Given the description of an element on the screen output the (x, y) to click on. 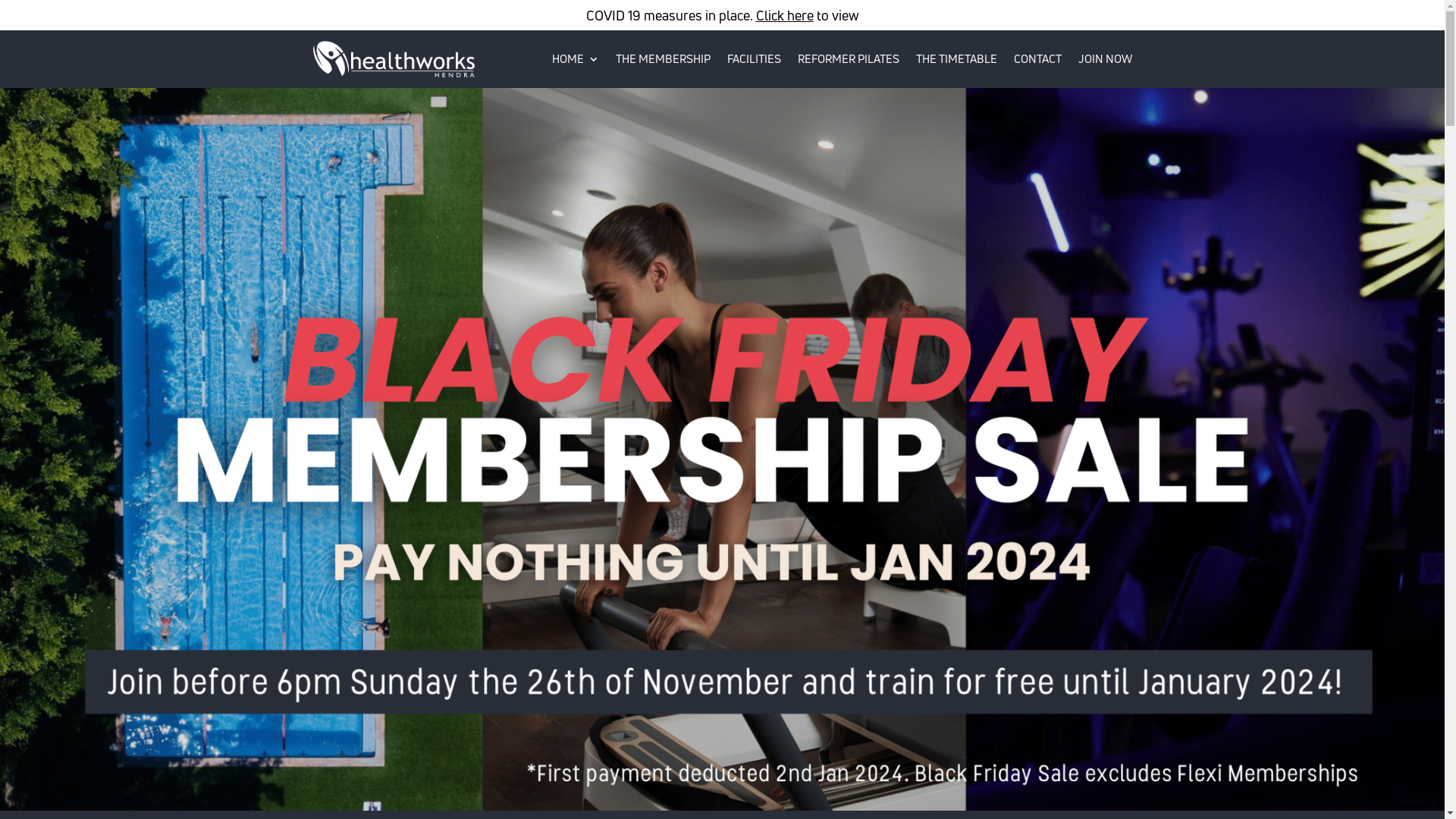
Click here Element type: text (783, 15)
BLACK FRIDAY (website banner) Element type: hover (722, 448)
THE TIMETABLE Element type: text (956, 58)
REFORMER PILATES Element type: text (848, 58)
CONTACT Element type: text (1036, 58)
FACILITIES Element type: text (753, 58)
HOME Element type: text (575, 58)
THE MEMBERSHIP Element type: text (662, 58)
JOIN NOW Element type: text (1105, 58)
